Given the description of an element on the screen output the (x, y) to click on. 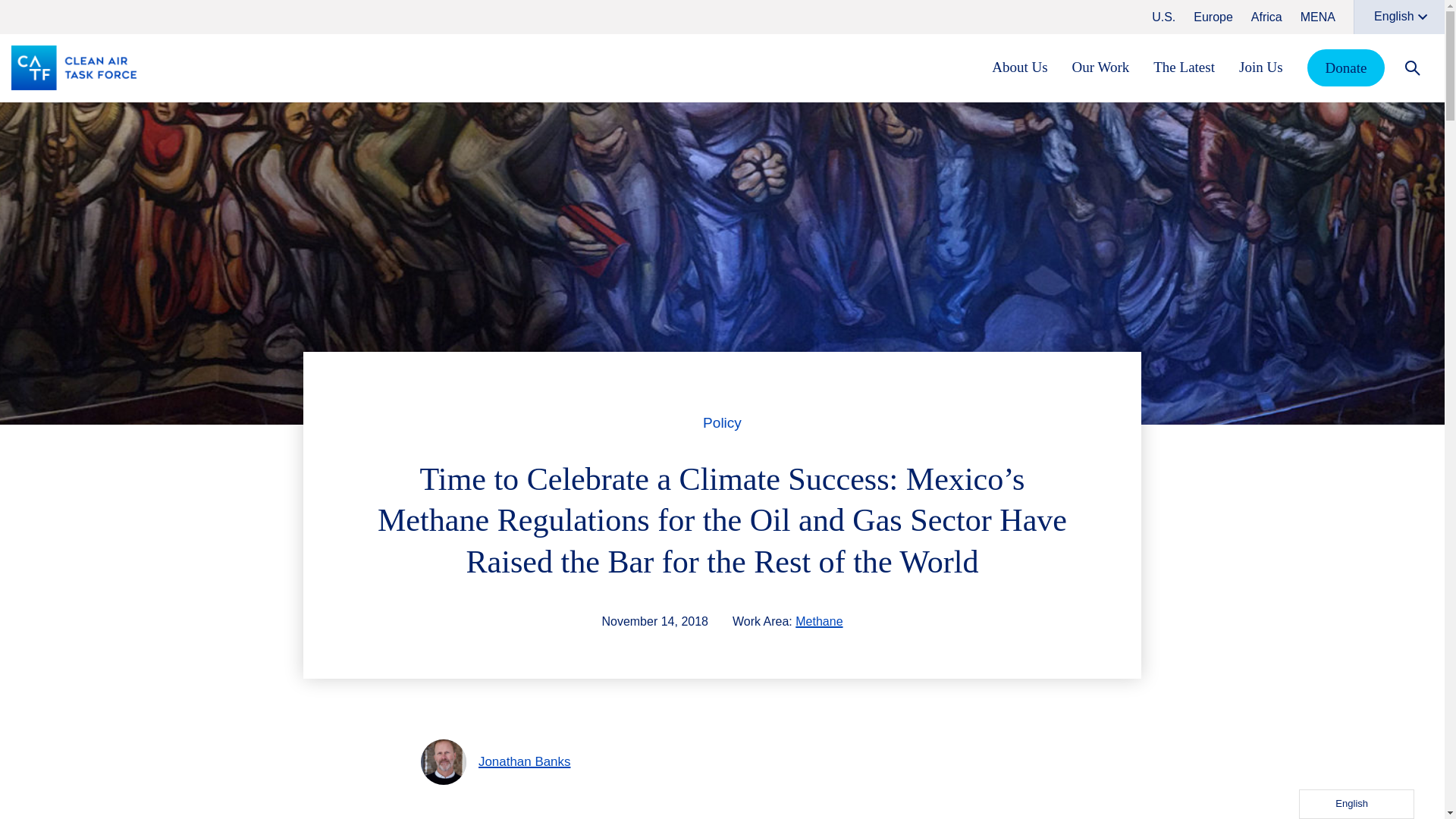
Our Work (1100, 67)
The Latest (1183, 67)
MENA (1317, 16)
Europe (1213, 16)
About Us (1018, 67)
U.S. (1162, 16)
Africa (1266, 16)
Join Us (1260, 67)
Search (1413, 67)
Donate (1346, 67)
